Given the description of an element on the screen output the (x, y) to click on. 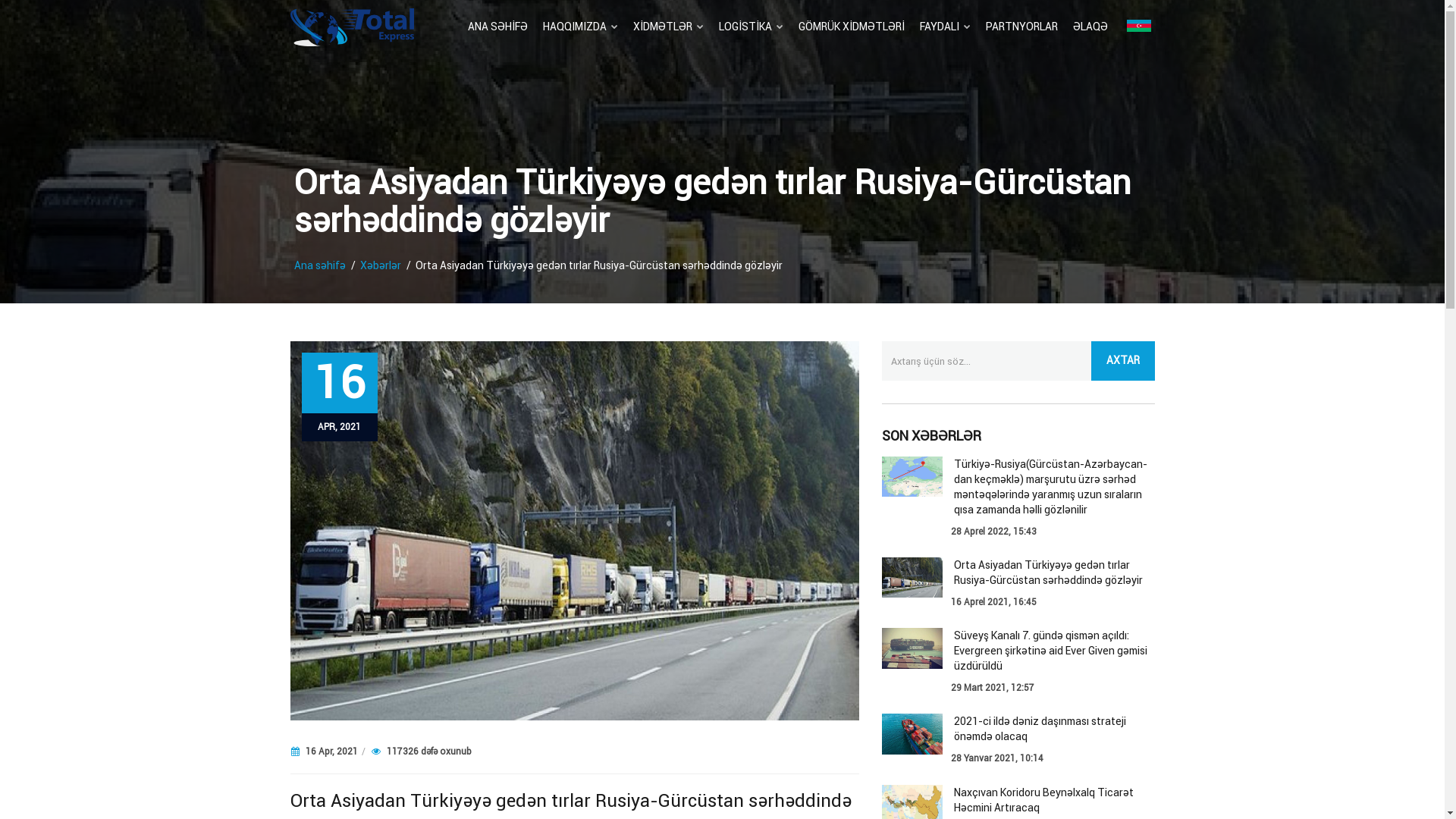
HAQQIMIZDA Element type: text (580, 26)
AXTAR Element type: text (1122, 360)
PARTNYORLAR Element type: text (1021, 26)
FAYDALI Element type: text (944, 26)
LOGISTIKA Element type: text (750, 26)
totalex.az Element type: hover (351, 27)
